Given the description of an element on the screen output the (x, y) to click on. 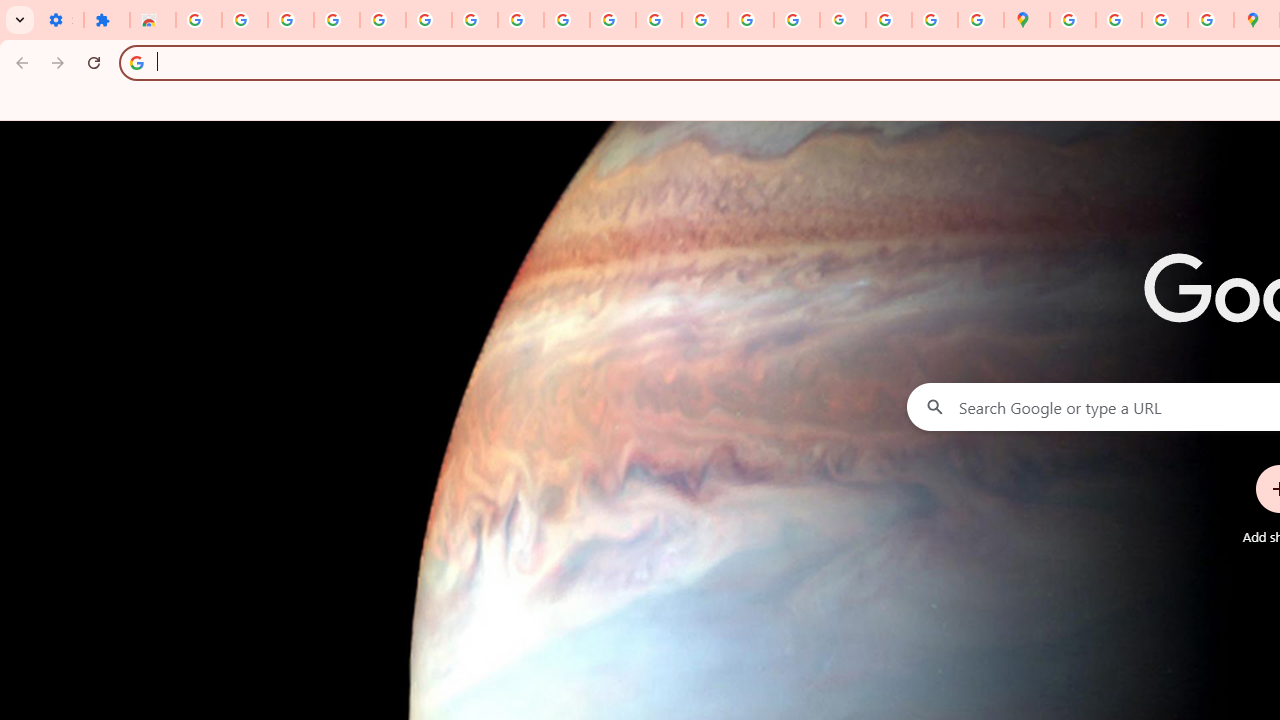
Sign in - Google Accounts (428, 20)
Reviews: Helix Fruit Jump Arcade Game (153, 20)
Settings - On startup (60, 20)
Sign in - Google Accounts (198, 20)
Safety in Our Products - Google Safety Center (1210, 20)
Google Account (520, 20)
